Given the description of an element on the screen output the (x, y) to click on. 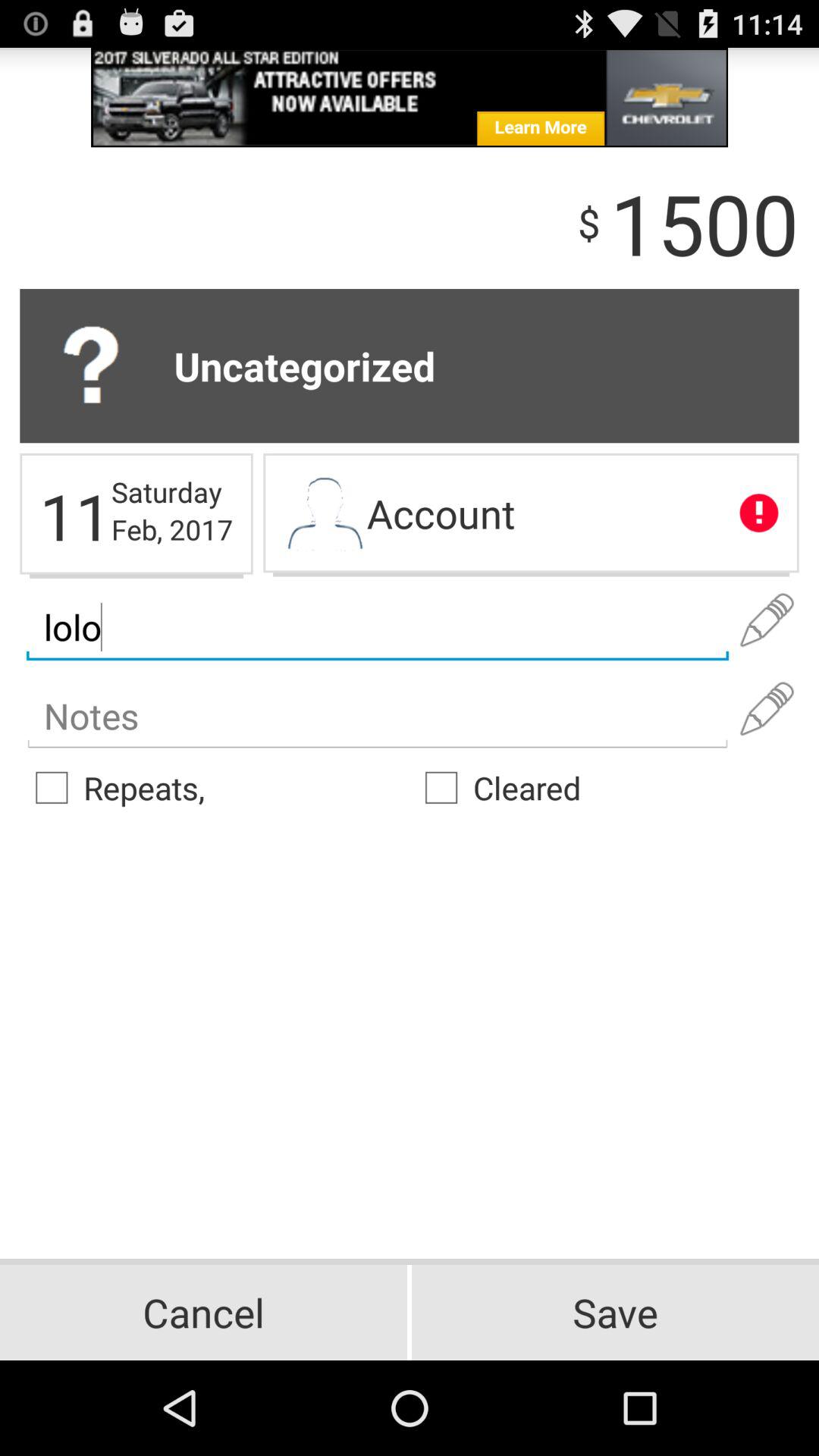
know about the advertisement (409, 97)
